Given the description of an element on the screen output the (x, y) to click on. 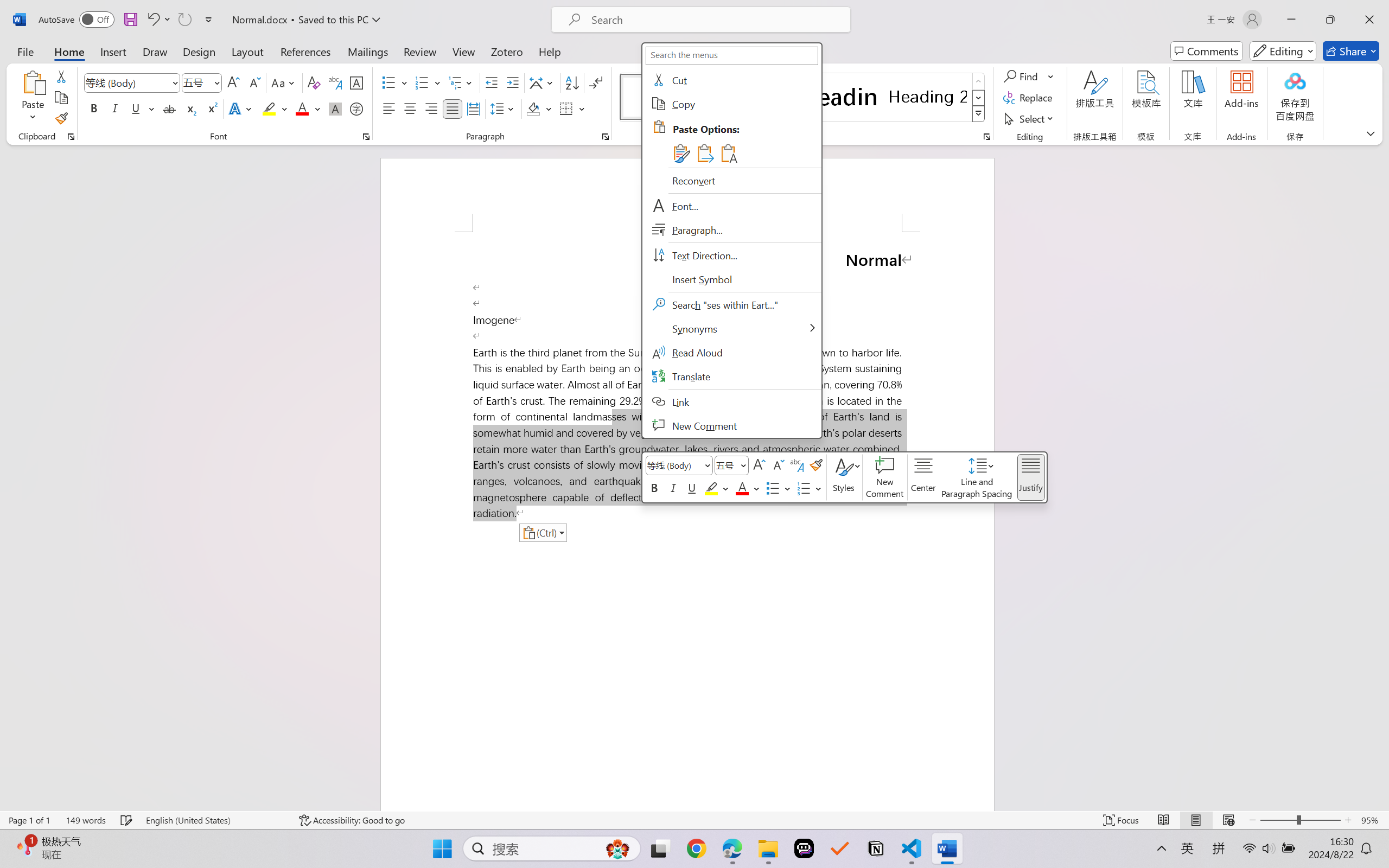
Bold (94, 108)
Notion (875, 848)
Styles (844, 476)
Grow Font (233, 82)
Shrink Font (253, 82)
Class: NetUITextbox (726, 465)
